Given the description of an element on the screen output the (x, y) to click on. 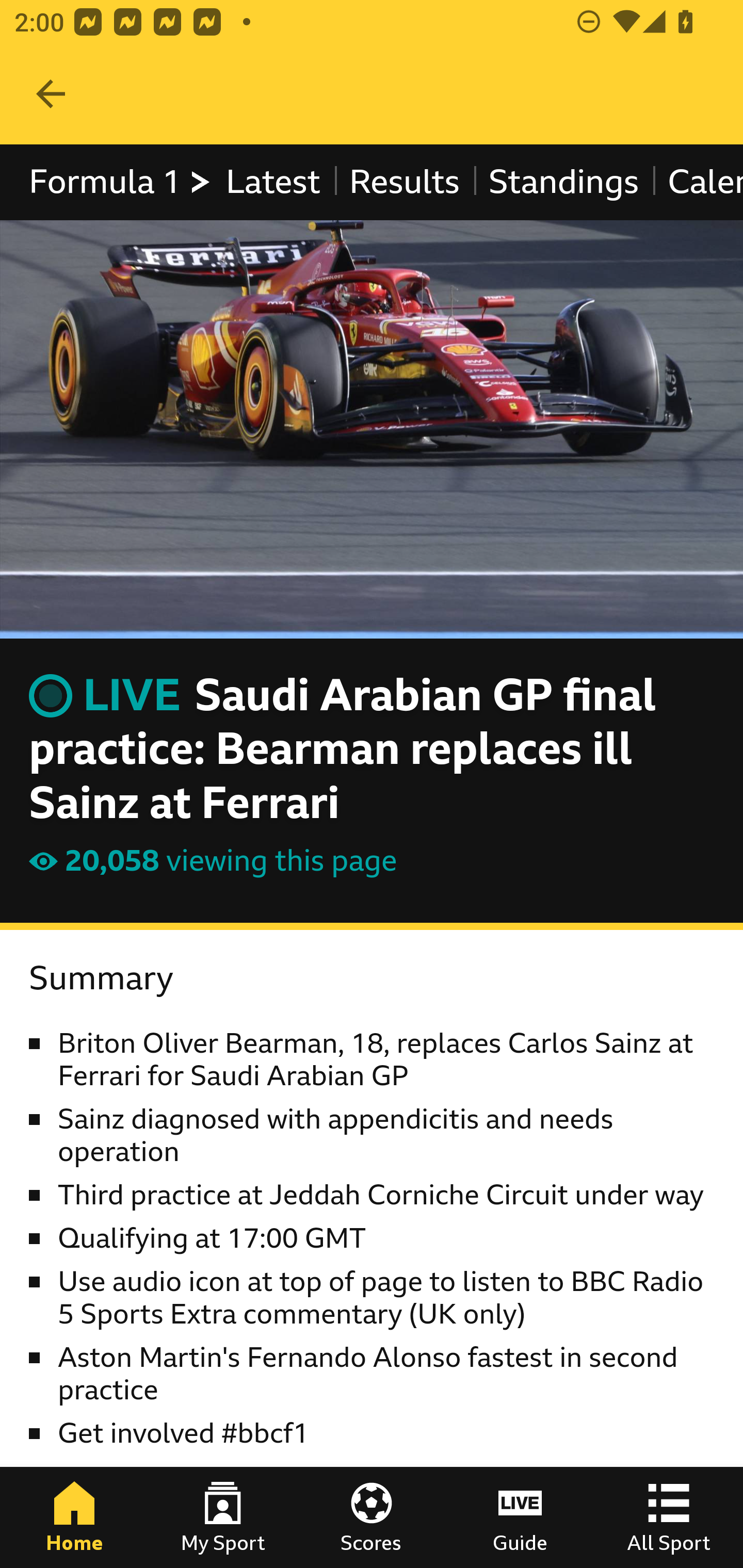
Navigate up (50, 93)
Formula 1  (120, 181)
Latest (272, 181)
Results (403, 181)
Standings (564, 181)
My Sport (222, 1517)
Scores (371, 1517)
Guide (519, 1517)
All Sport (668, 1517)
